Given the description of an element on the screen output the (x, y) to click on. 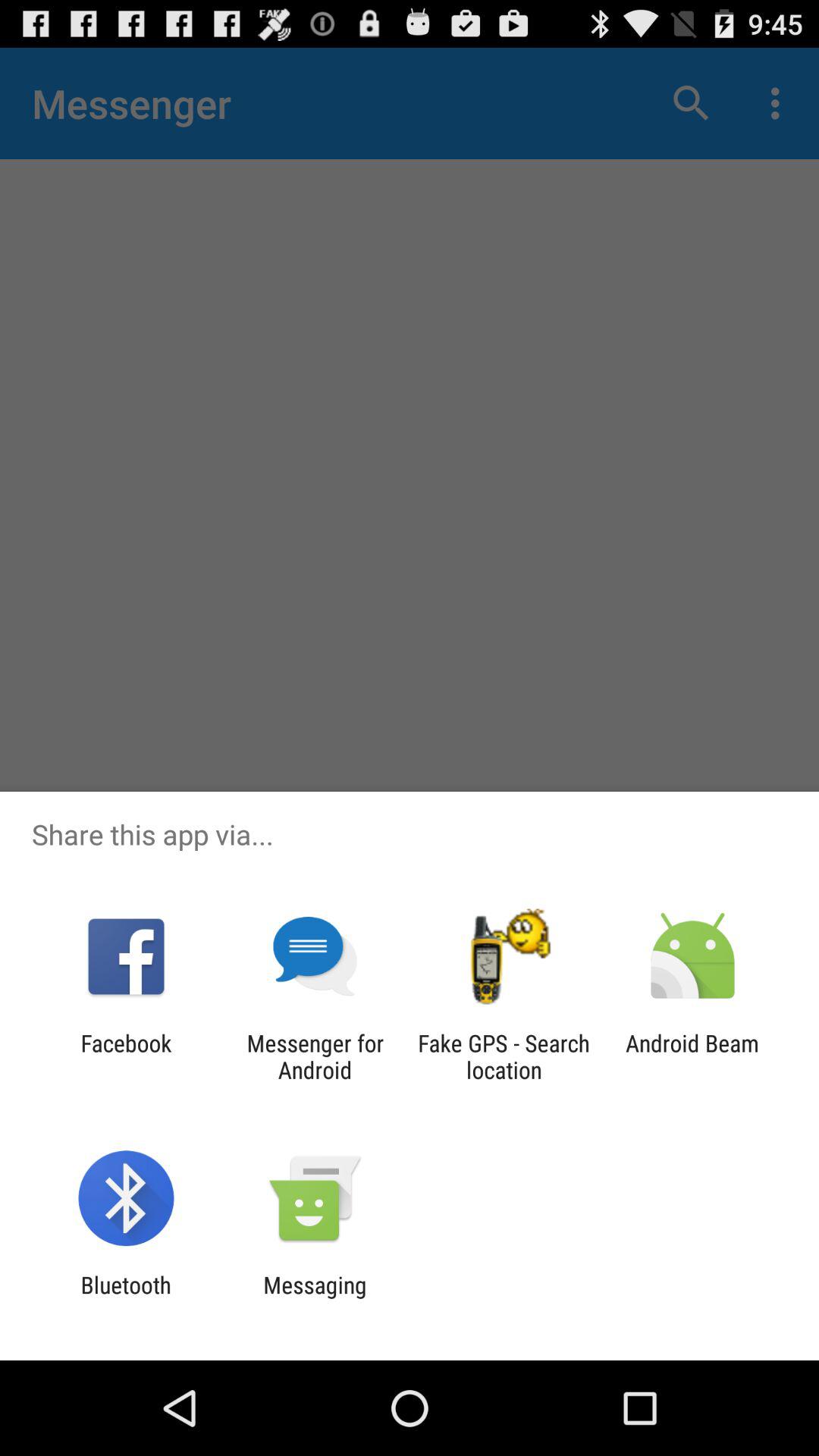
jump to messenger for android app (314, 1056)
